Given the description of an element on the screen output the (x, y) to click on. 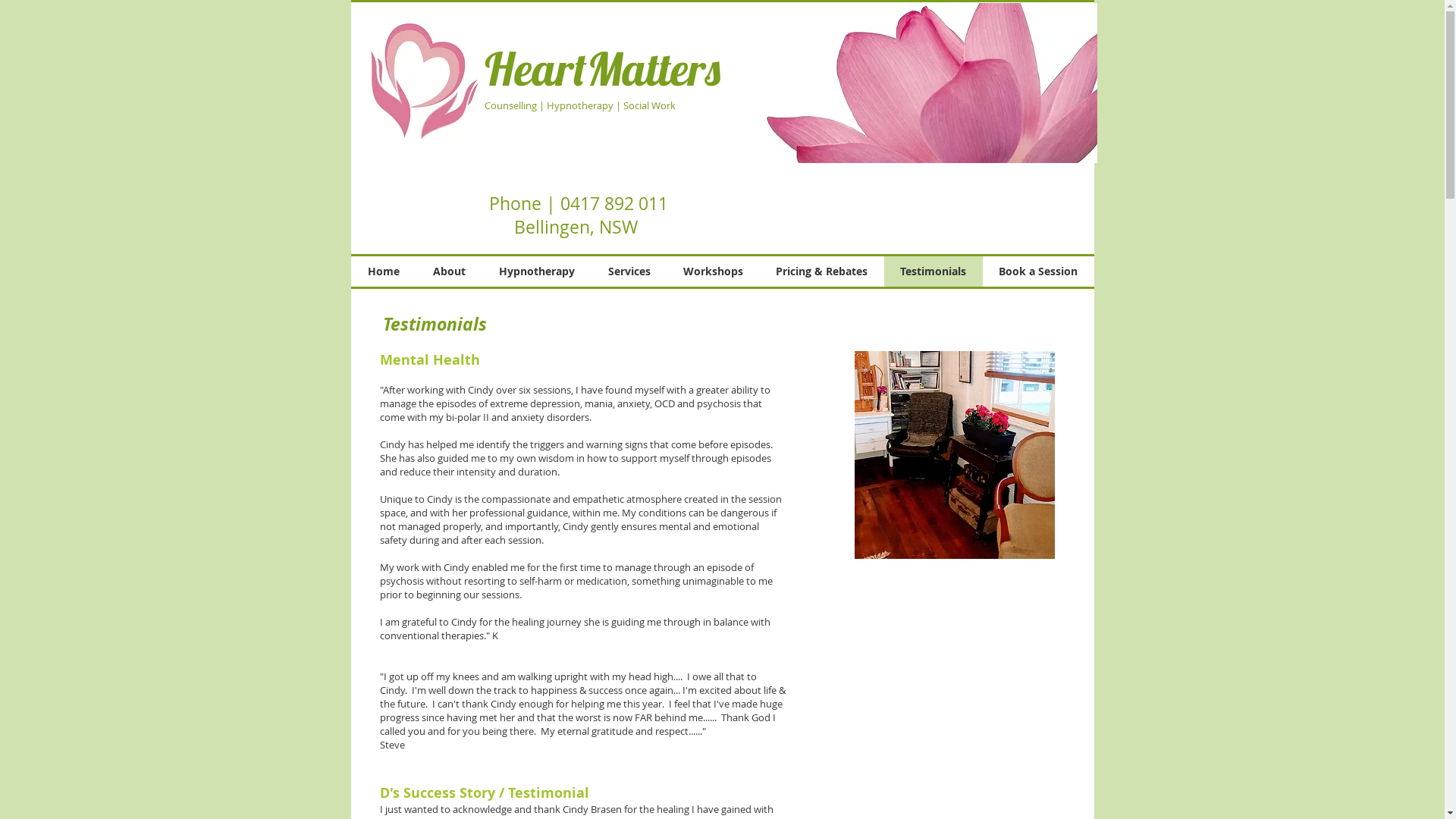
Phone | 0417 892 011
Bellingen, NSW Element type: text (577, 214)
HeartMatters Element type: text (601, 68)
Counselling | Hypnotherapy | Social Work Element type: text (578, 105)
Pricing & Rebates Element type: text (821, 271)
About Element type: text (448, 271)
Hypnotherapy Element type: text (536, 271)
Workshops Element type: text (713, 271)
  Element type: text (639, 226)
Testimonials Element type: text (933, 271)
Home Element type: text (382, 271)
Book a Session Element type: text (1038, 271)
Services Element type: text (629, 271)
